Given the description of an element on the screen output the (x, y) to click on. 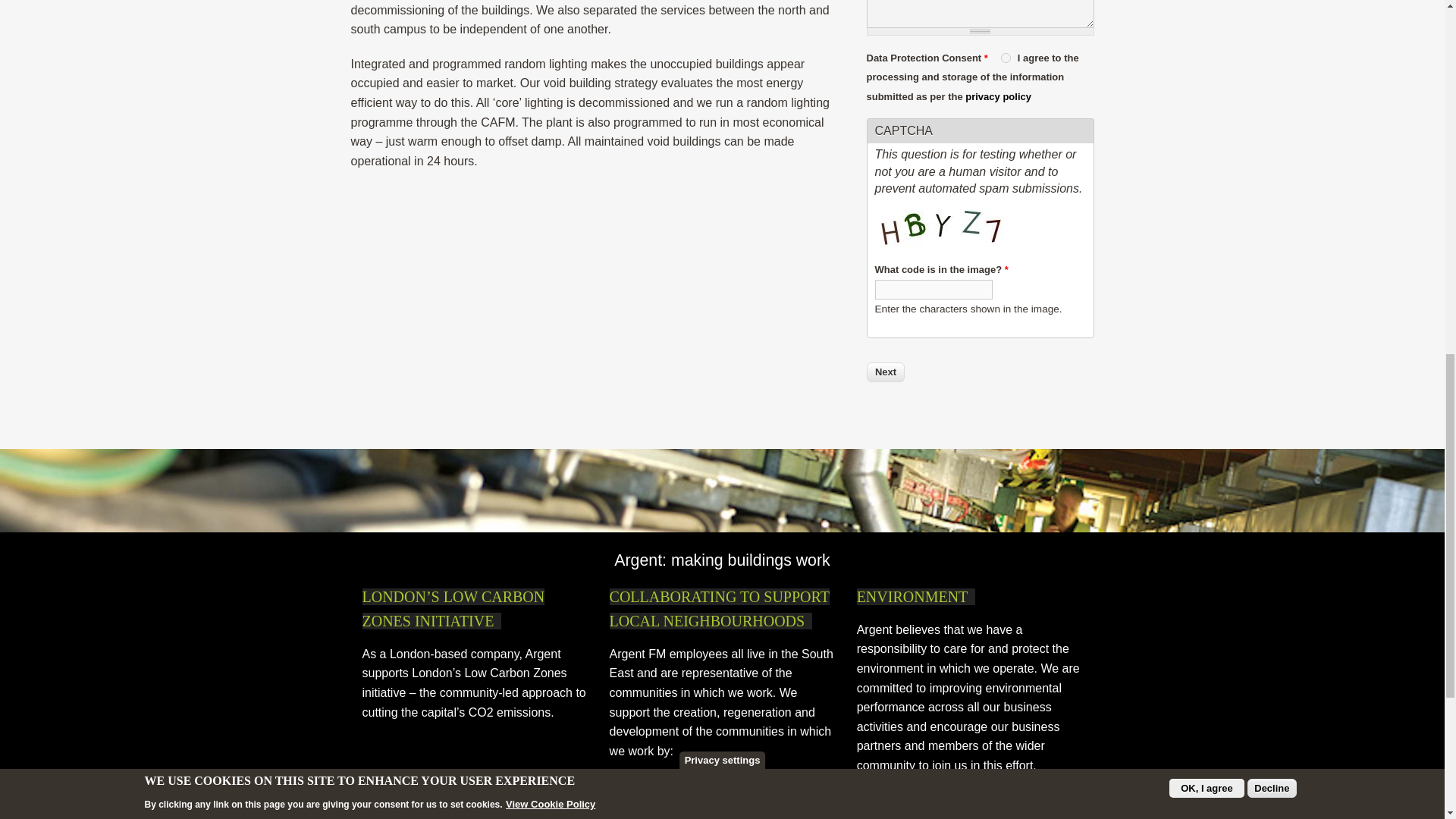
Next (885, 372)
Image CAPTCHA (943, 232)
This field is required. (1006, 269)
This field is required. (986, 57)
